Given the description of an element on the screen output the (x, y) to click on. 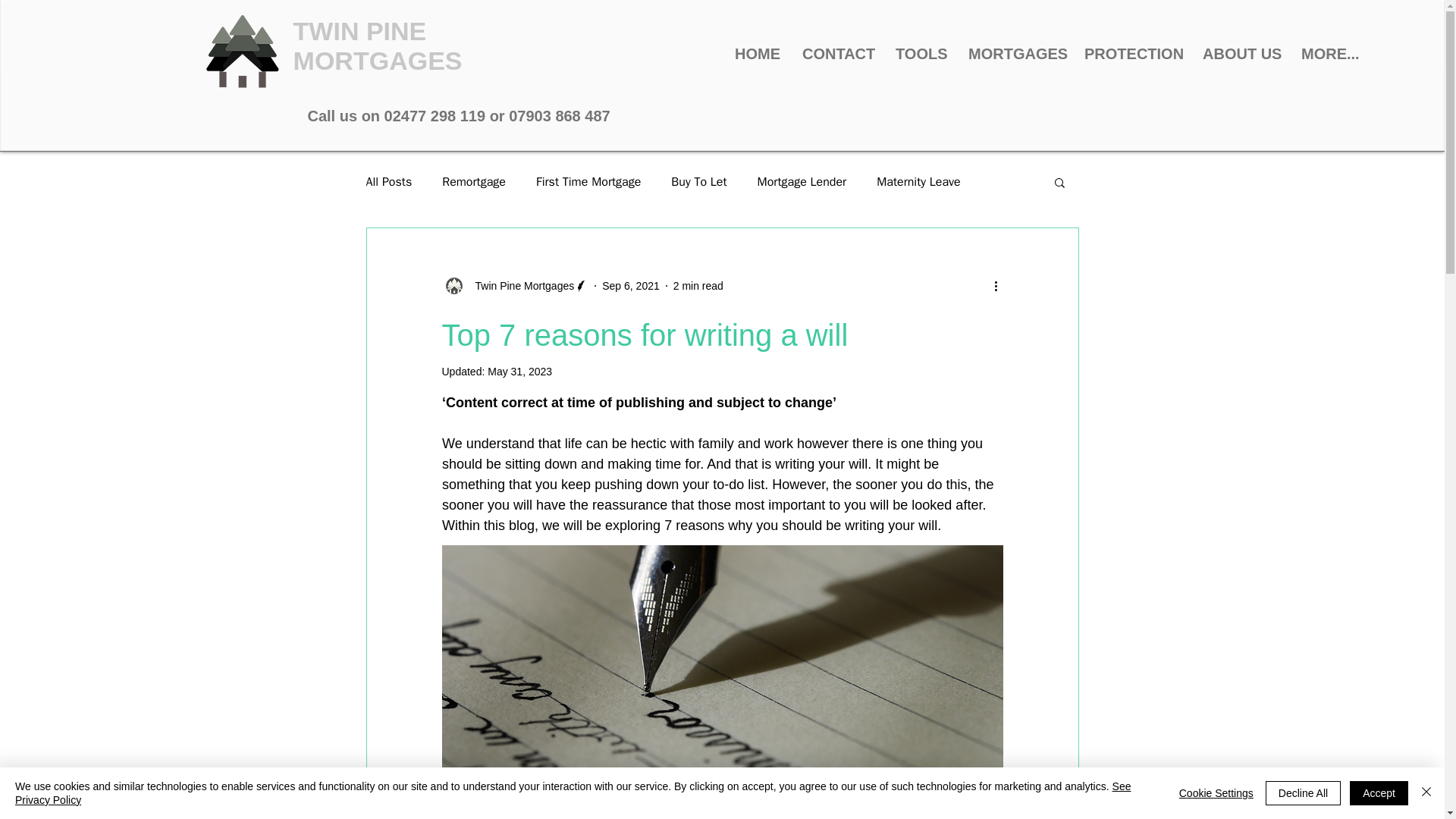
Maternity Leave (918, 182)
TOOLS (919, 53)
All Posts (388, 182)
ABOUT US (1240, 53)
HOME (756, 53)
First Time Mortgage (587, 182)
Twin Pine Mortgages (519, 285)
Remortgage (473, 182)
Buy To Let (698, 182)
CONTACT (836, 53)
